Given the description of an element on the screen output the (x, y) to click on. 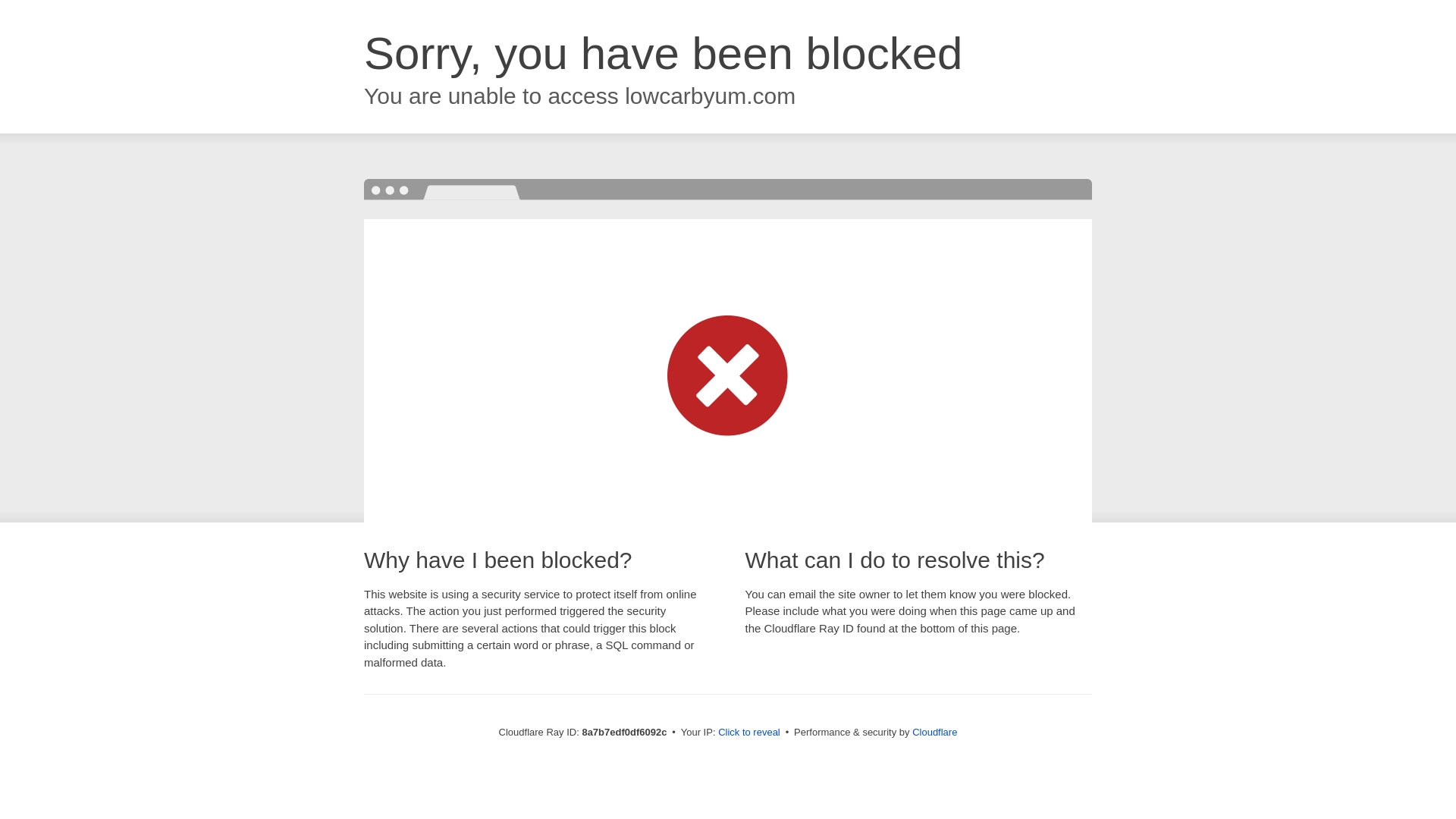
Click to reveal (748, 732)
Cloudflare (934, 731)
